Given the description of an element on the screen output the (x, y) to click on. 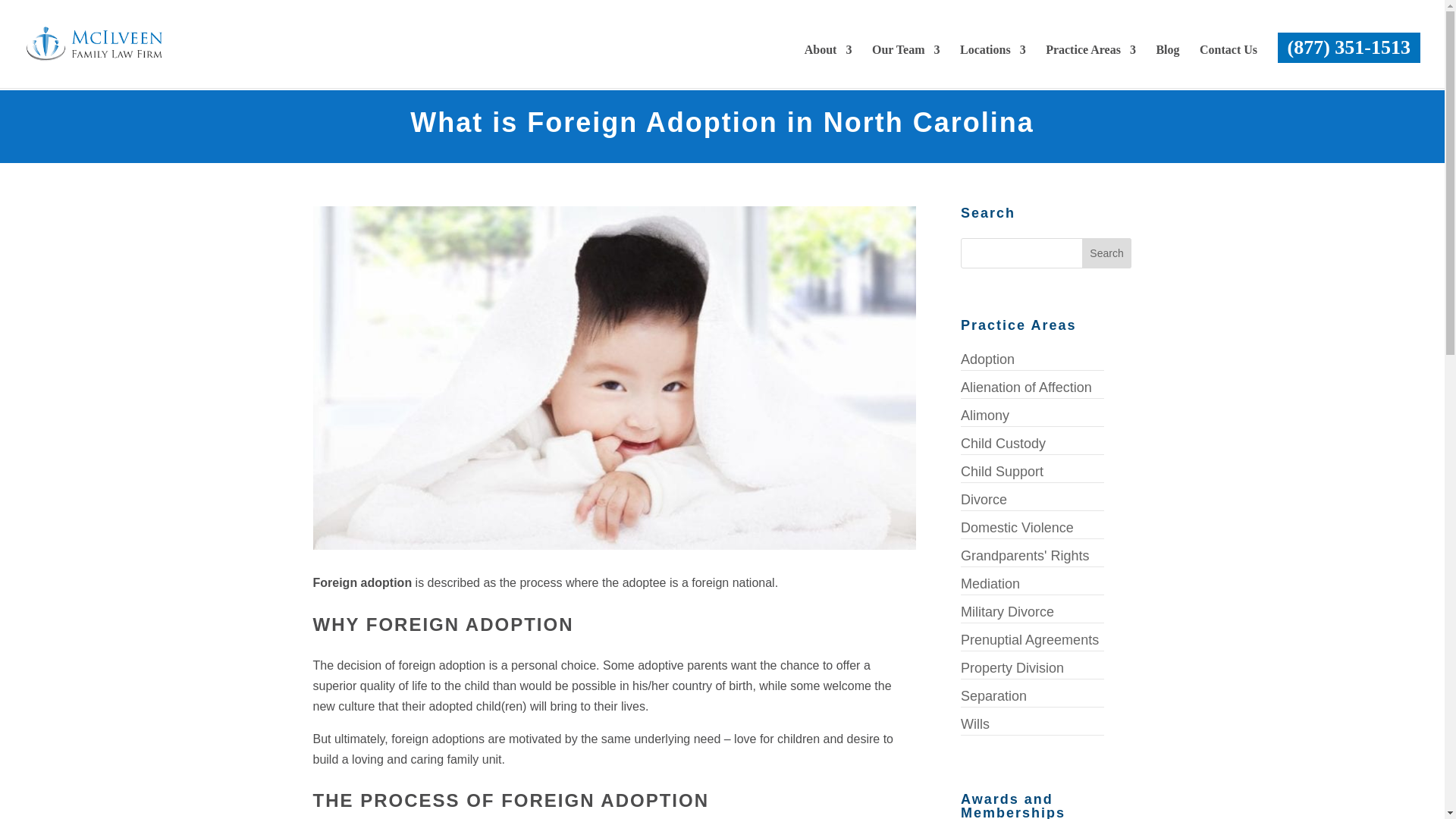
Practice Areas (1090, 62)
Search (1106, 253)
Locations (992, 62)
Contact Us (1228, 62)
About (828, 62)
Our Team (906, 62)
